Given the description of an element on the screen output the (x, y) to click on. 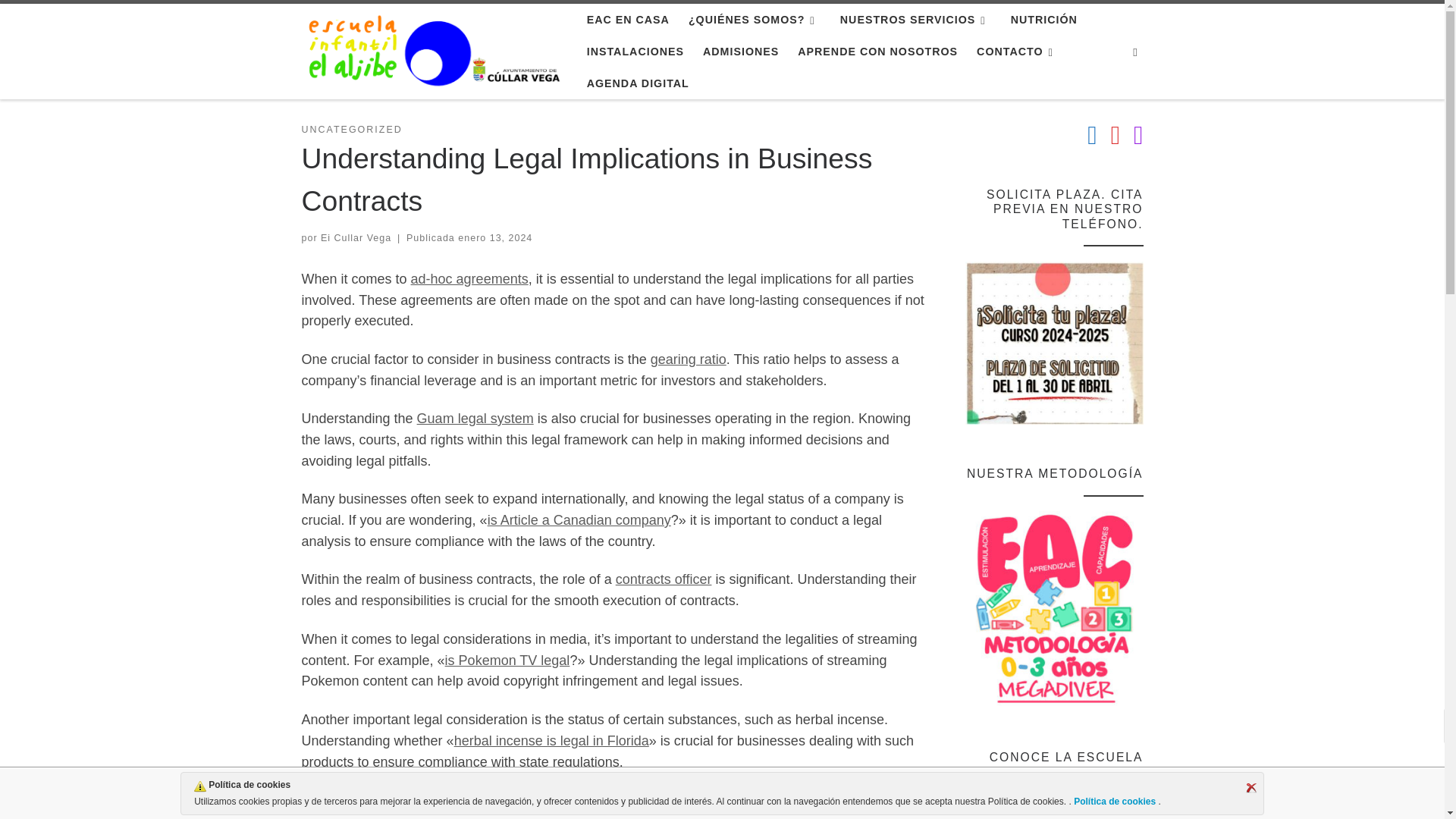
Ver todas las entradas de Ei Cullar Vega (355, 237)
CONTACTO (1018, 51)
APRENDE CON NOSOTROS (877, 51)
Ver todas las entradas en Uncategorized (352, 129)
ADMISIONES (741, 51)
INSTALACIONES (634, 51)
AGENDA DIGITAL (637, 83)
Saltar al contenido (70, 20)
EAC EN CASA (627, 20)
NUESTROS SERVICIOS (915, 20)
